Given the description of an element on the screen output the (x, y) to click on. 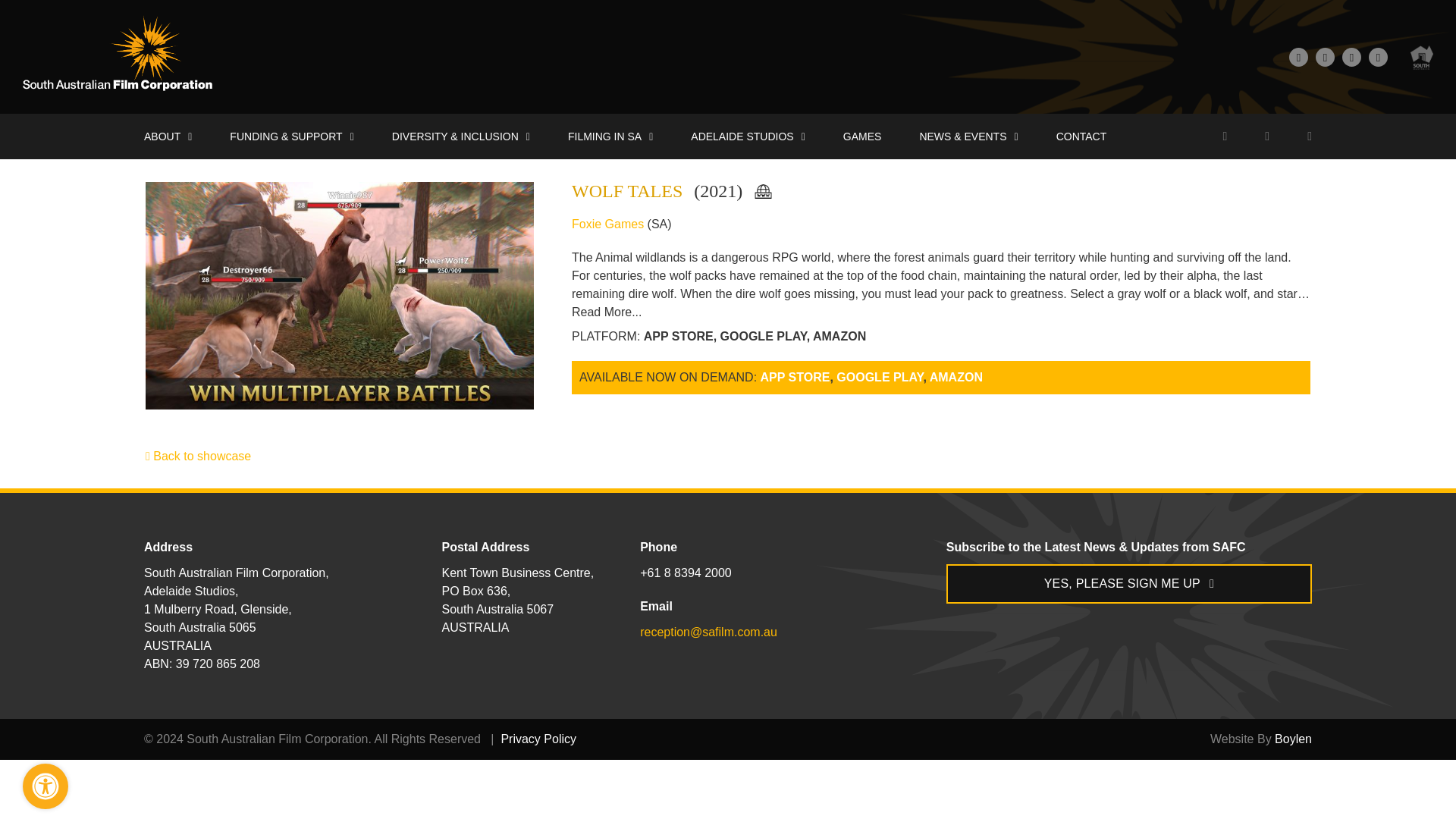
ABOUT (168, 136)
Instagram (1377, 56)
Facebook (1297, 56)
Twitter (1325, 56)
Youtube (1351, 56)
Website (767, 192)
South Australia (1421, 56)
FILMING IN SA (609, 136)
ADELAIDE STUDIOS (747, 136)
